Given the description of an element on the screen output the (x, y) to click on. 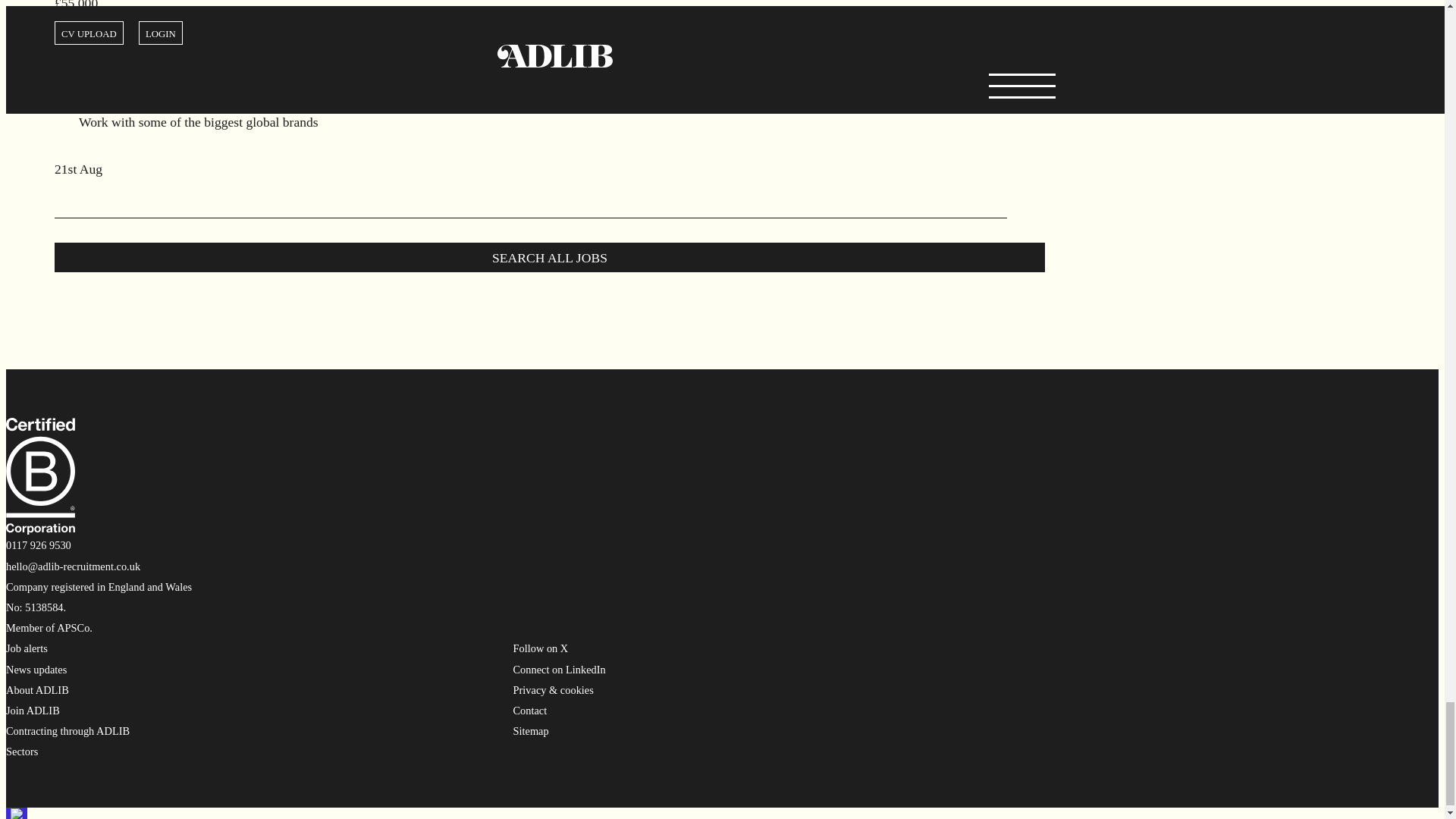
News updates (35, 669)
Job alerts (26, 648)
0117 926 9530 (38, 544)
About ADLIB (36, 689)
SEARCH ALL JOBS (550, 256)
Join ADLIB (32, 710)
